Given the description of an element on the screen output the (x, y) to click on. 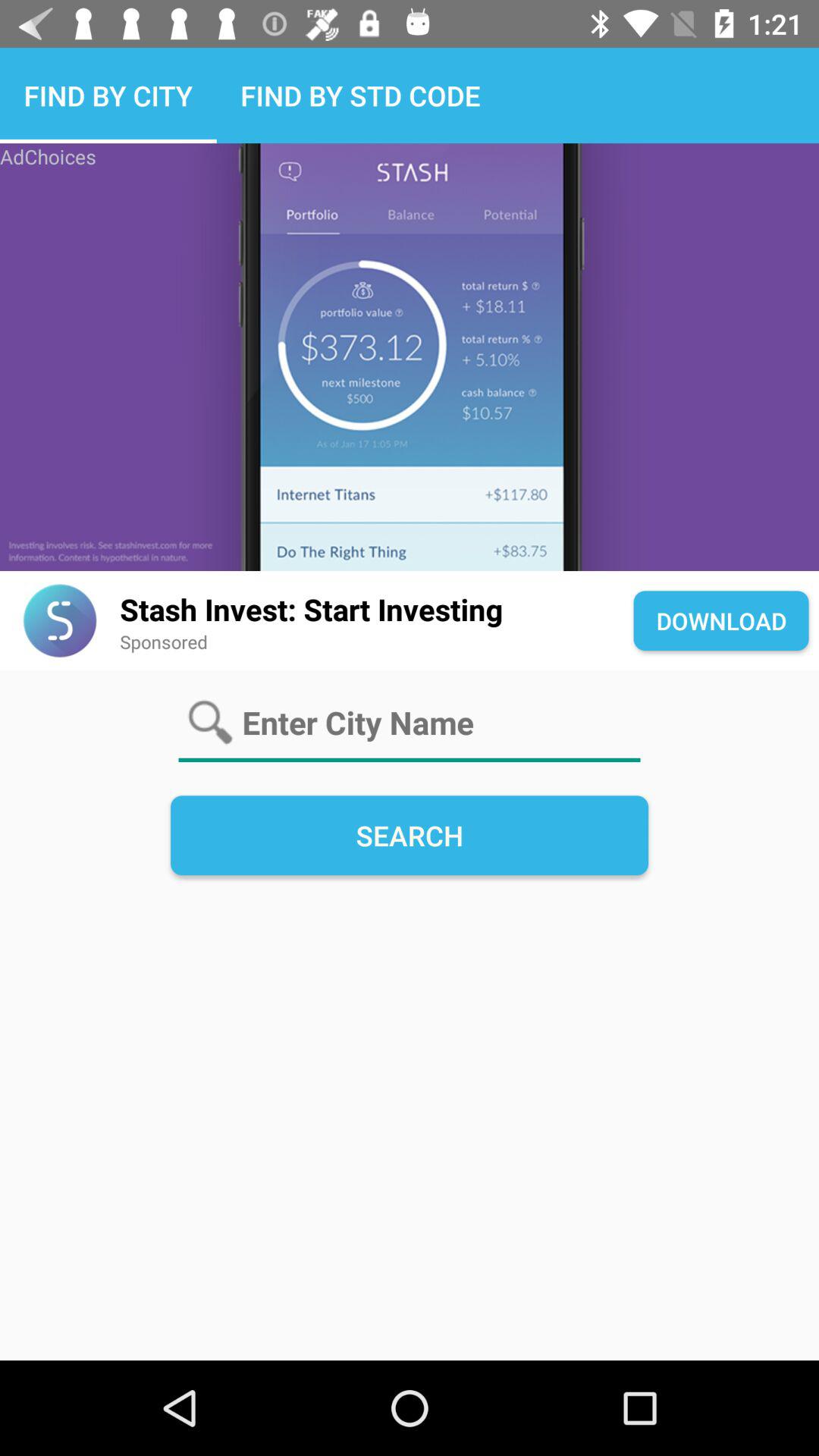
open app store to download app (409, 357)
